Given the description of an element on the screen output the (x, y) to click on. 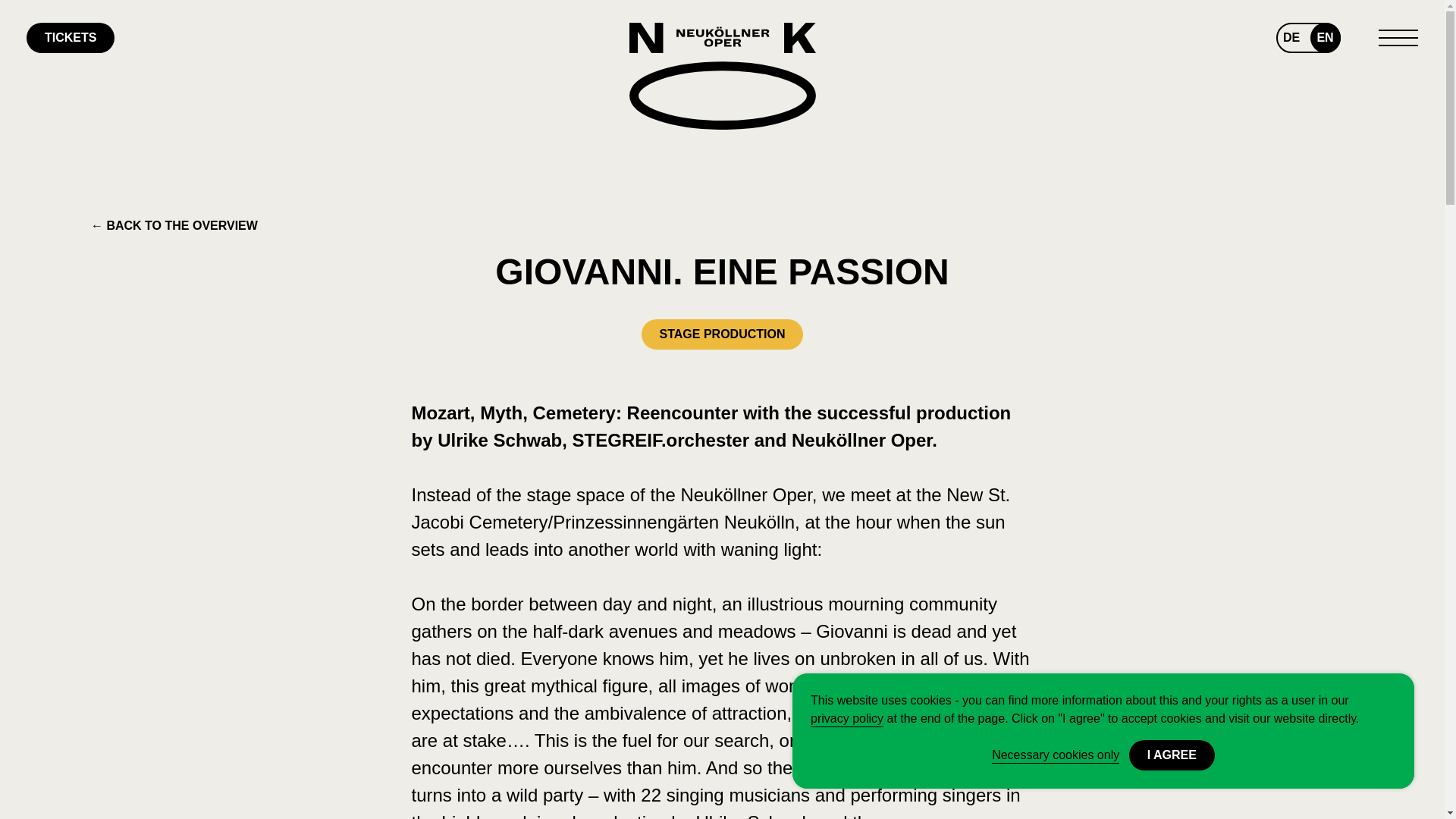
DE (1291, 37)
EN (1325, 37)
TICKETS (70, 37)
STAGE PRODUCTION (722, 334)
TOGGLE MENU (1398, 37)
German (1291, 37)
English (1325, 37)
